Given the description of an element on the screen output the (x, y) to click on. 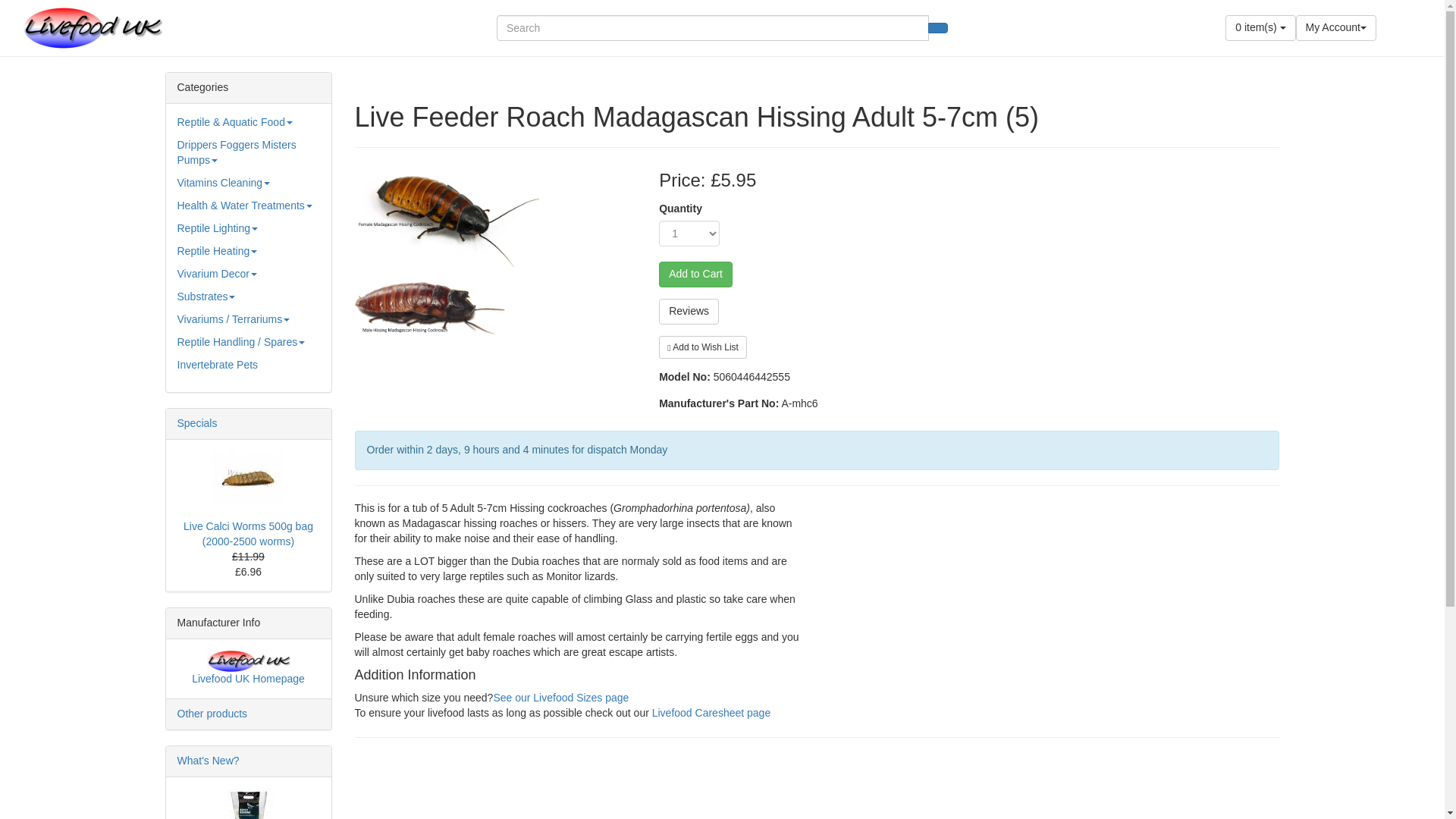
Livefood UK (247, 660)
Livefood UK Ltd. (92, 27)
ProRep Aspen Bedding 10 Litre (248, 803)
My Account (1335, 27)
